Given the description of an element on the screen output the (x, y) to click on. 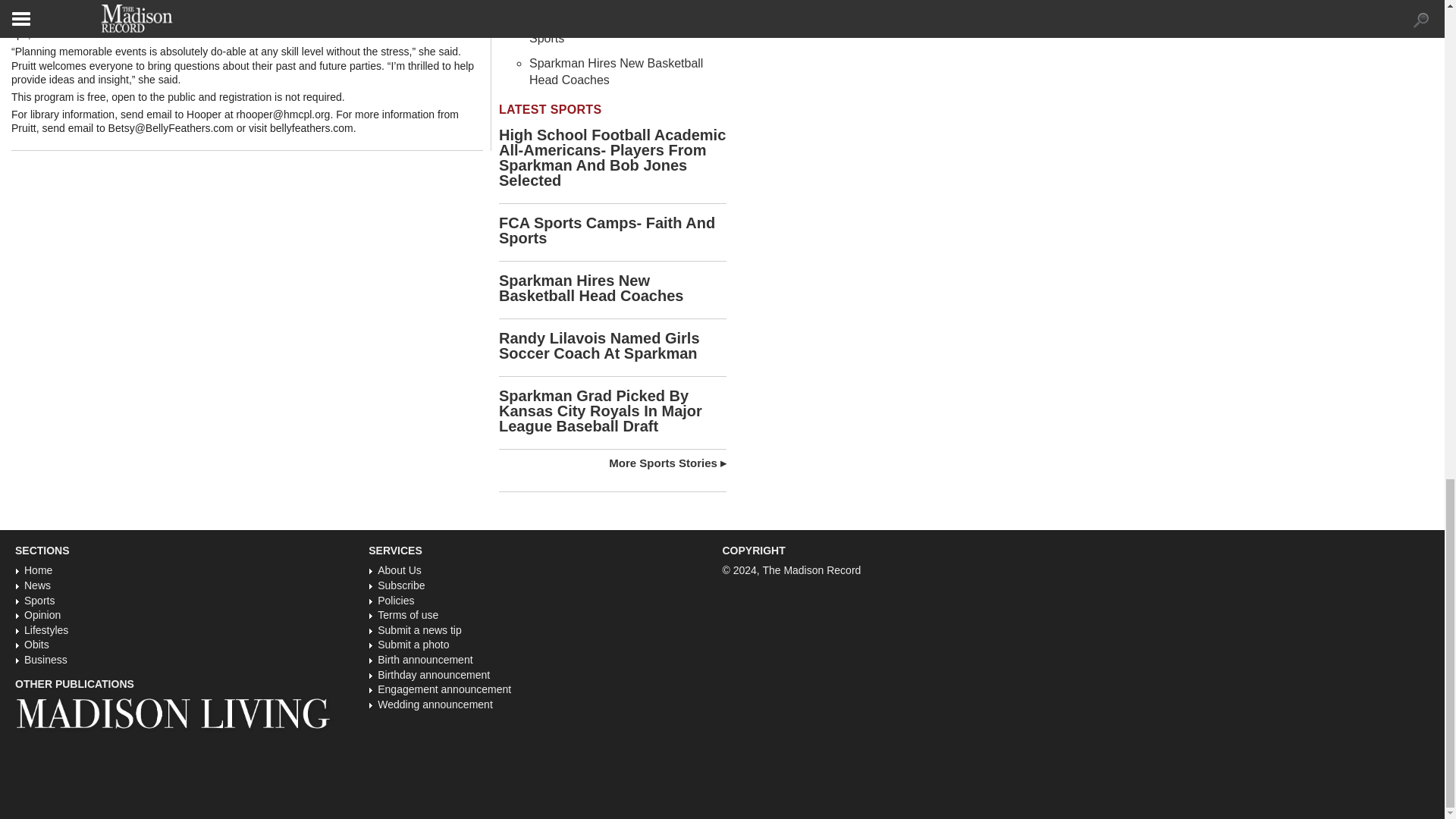
ways to reduce stress (382, 6)
